Given the description of an element on the screen output the (x, y) to click on. 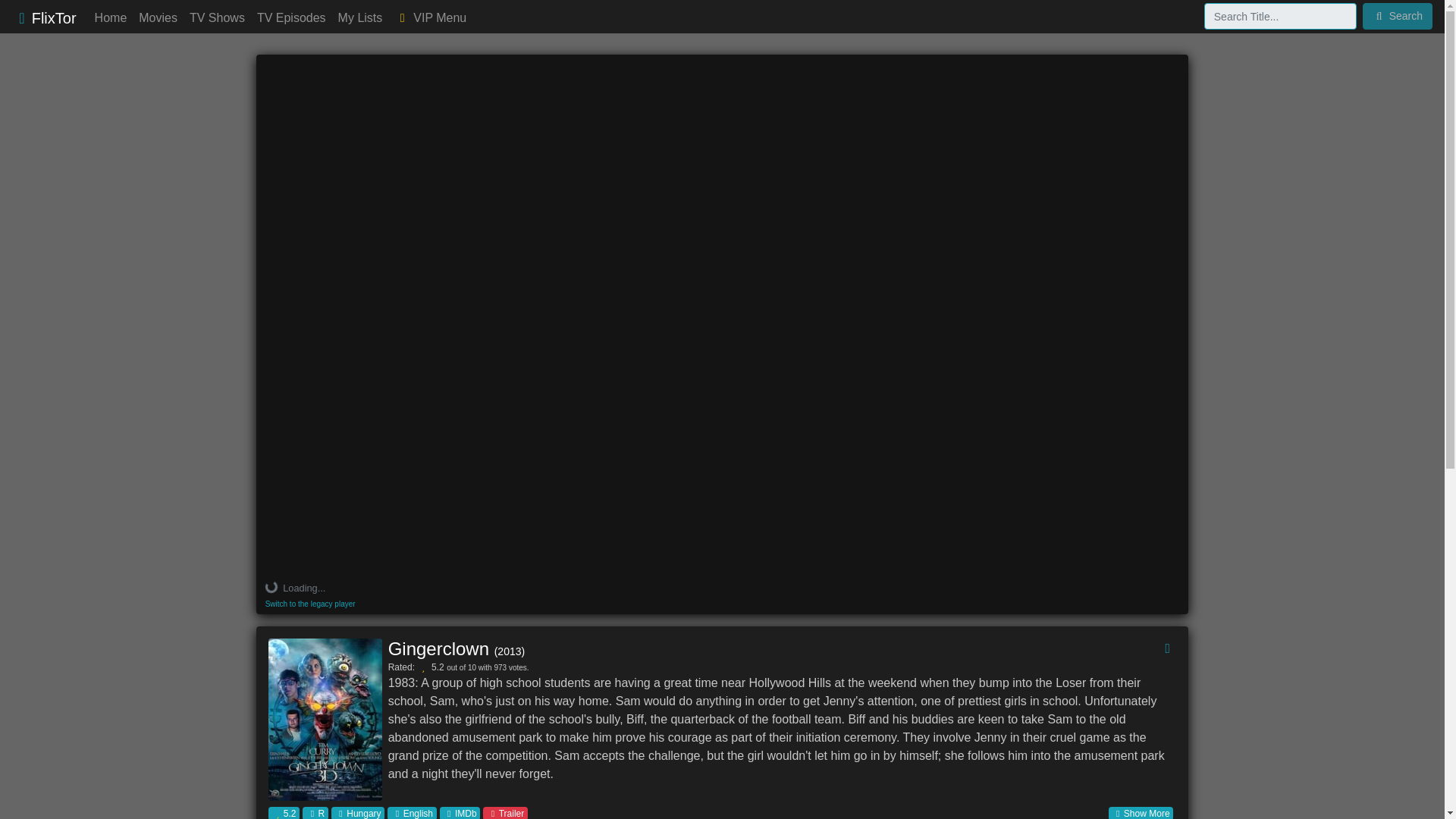
Production Country (357, 812)
US Content Rating (315, 812)
Rated 5.2 out of 10 with 973 votes. (283, 812)
Search (1397, 16)
Open IMDb (459, 812)
IMDb (459, 812)
VIP Menu (429, 18)
Watch YouTube Trailer (505, 812)
Home (110, 18)
Show More (1140, 812)
